Given the description of an element on the screen output the (x, y) to click on. 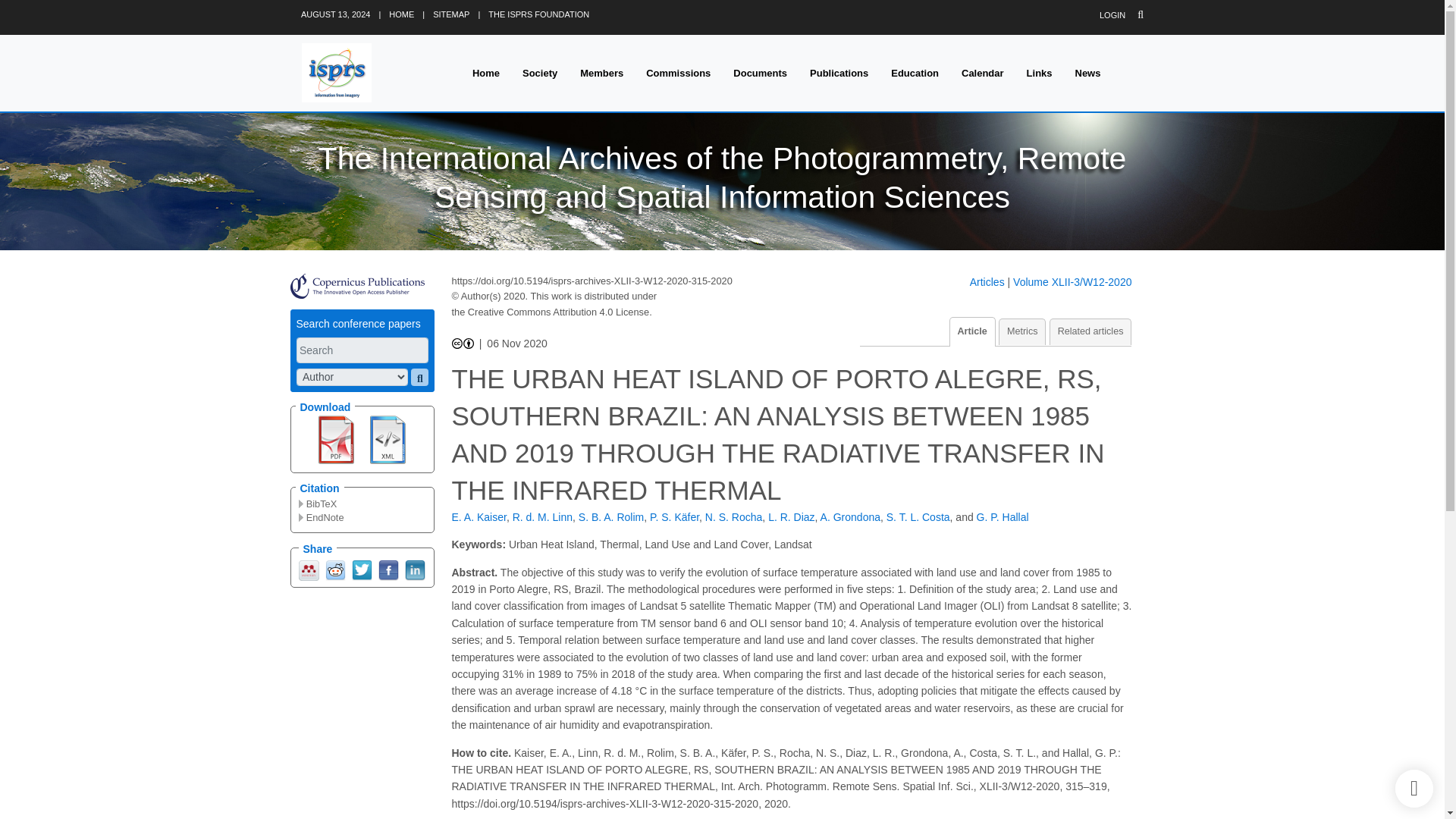
Society (539, 73)
LOGIN (1112, 14)
HOME (400, 13)
SITEMAP (450, 13)
THE ISPRS FOUNDATION (538, 13)
Home (485, 73)
